Given the description of an element on the screen output the (x, y) to click on. 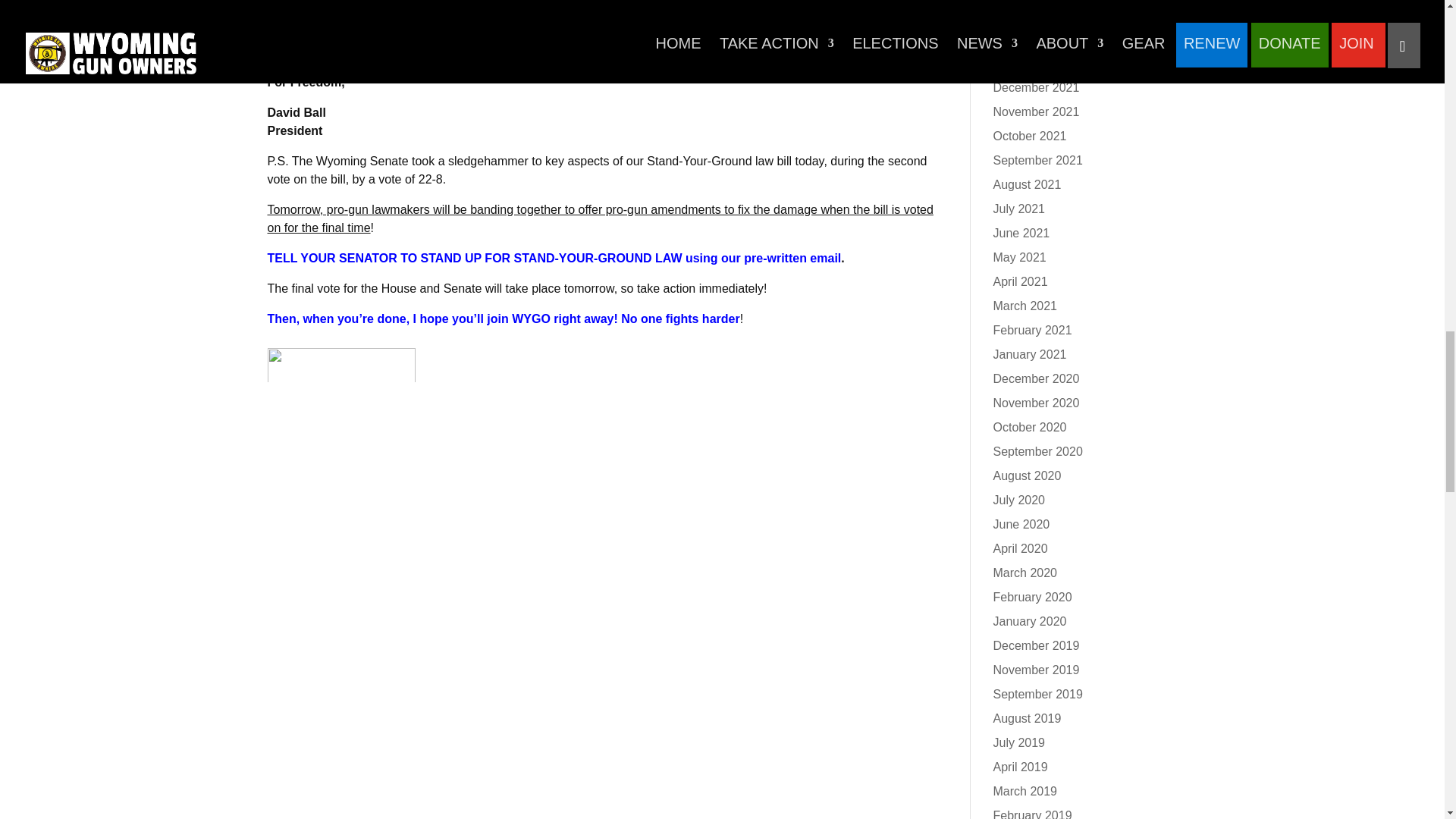
Please join WYGO TODAY (341, 51)
